Given the description of an element on the screen output the (x, y) to click on. 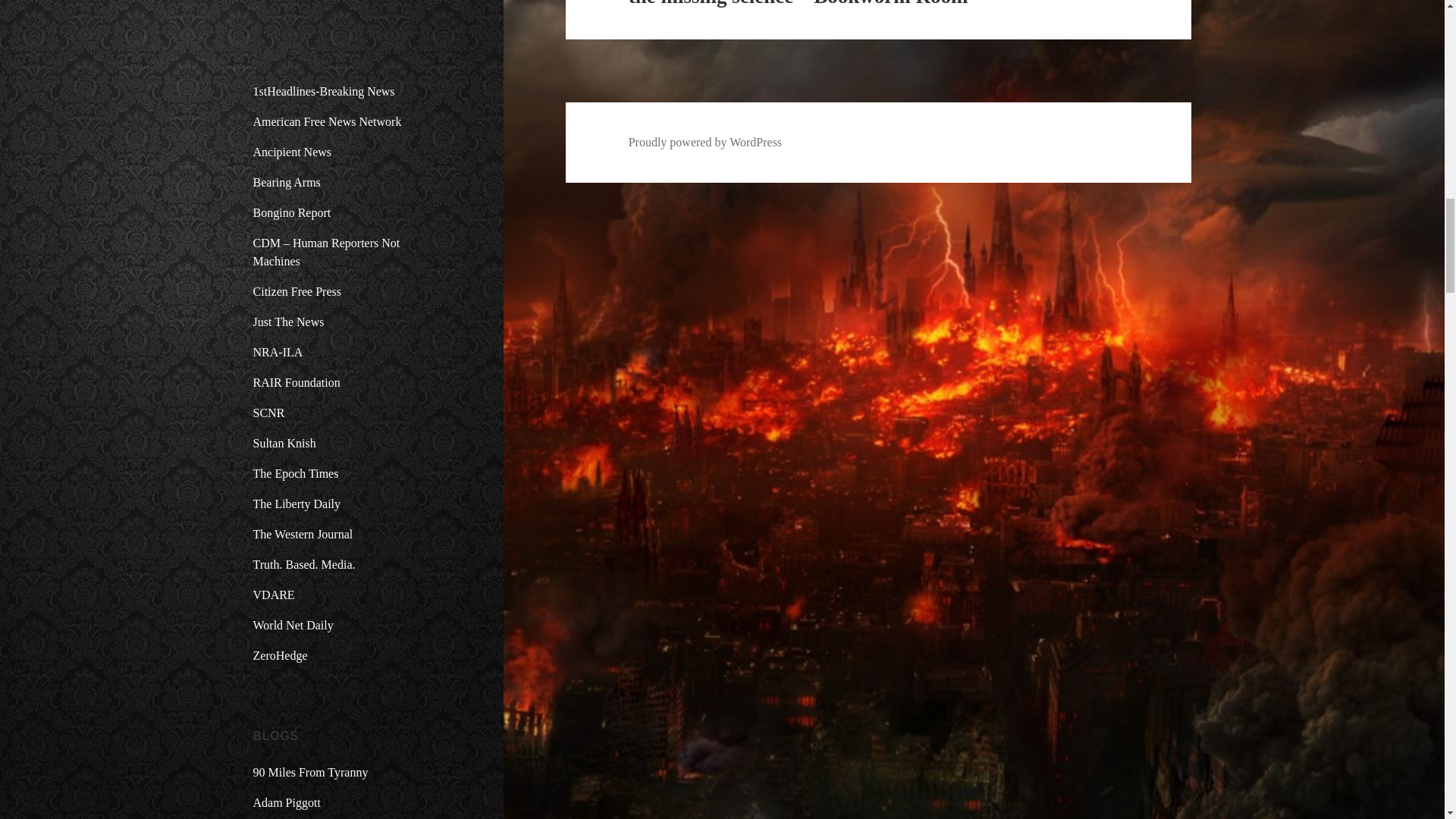
the right news, right now (292, 151)
